Given the description of an element on the screen output the (x, y) to click on. 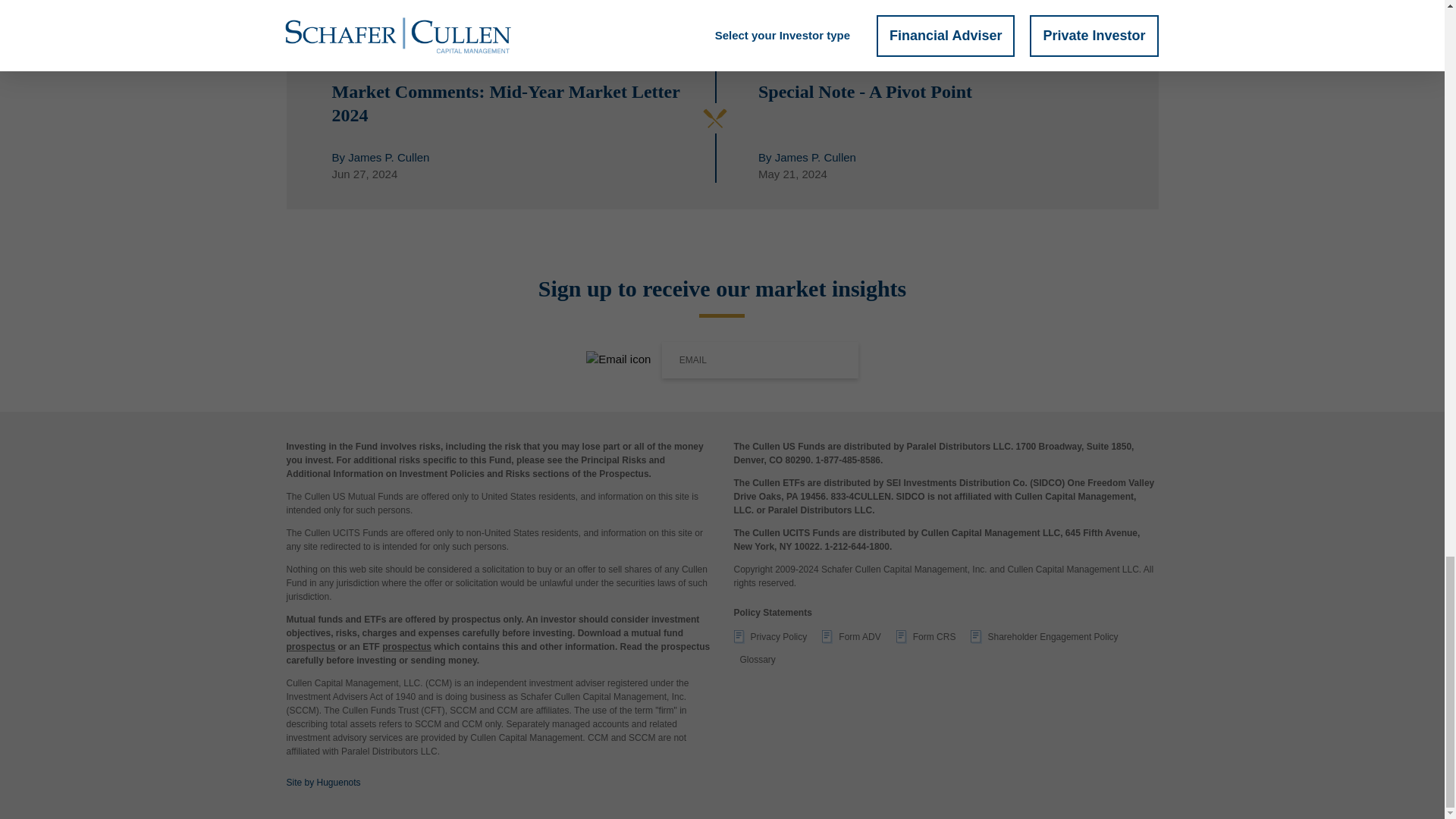
None (1044, 639)
None (851, 639)
None (926, 639)
Prospectus (311, 646)
None (770, 639)
